Given the description of an element on the screen output the (x, y) to click on. 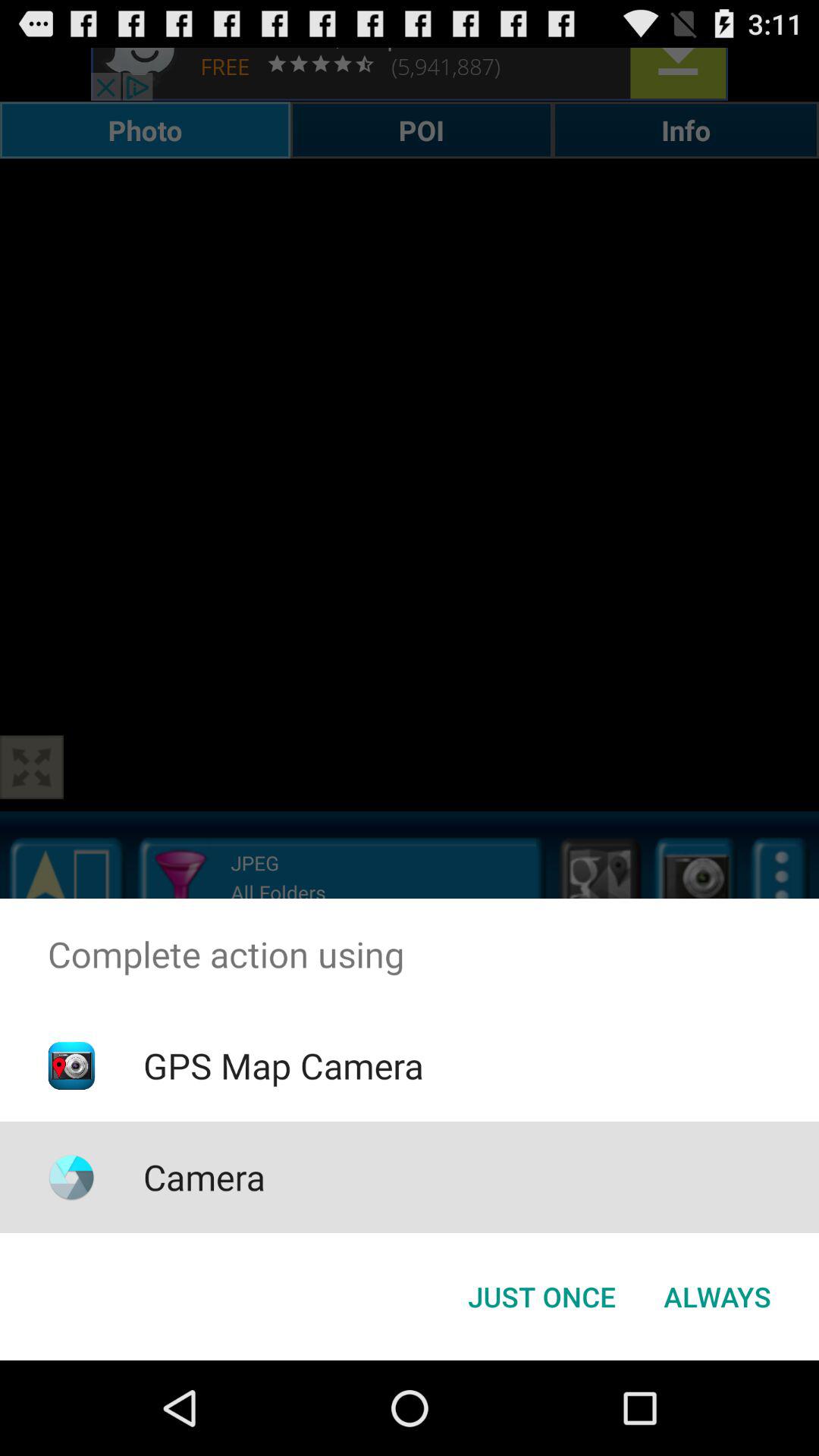
choose gps map camera item (283, 1065)
